Given the description of an element on the screen output the (x, y) to click on. 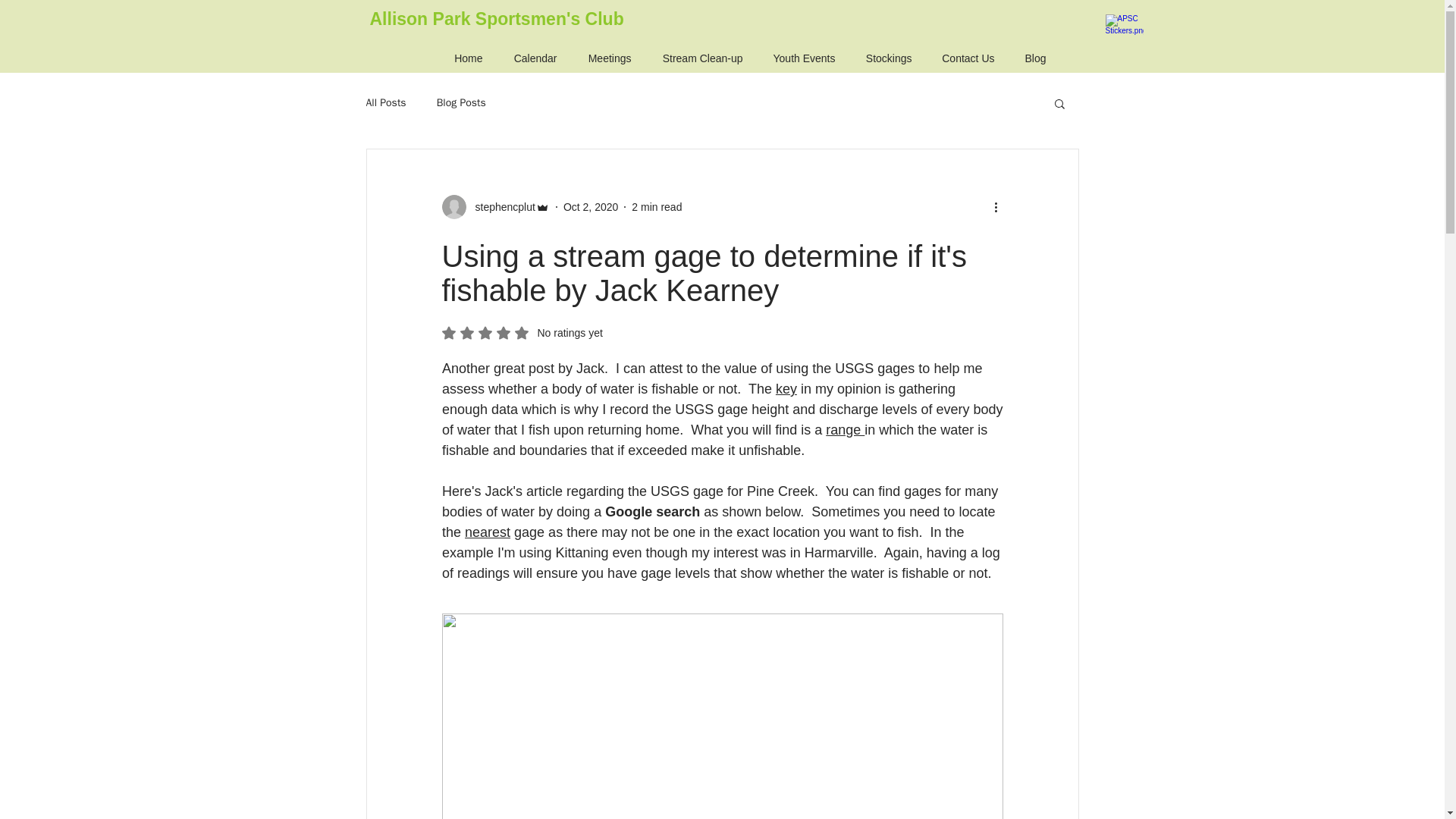
Meetings (606, 58)
Allison Park Sportsmen's Club (496, 18)
Oct 2, 2020 (590, 205)
2 min read (656, 205)
Home (465, 58)
stephencplut (499, 206)
Calendar (532, 58)
